Given the description of an element on the screen output the (x, y) to click on. 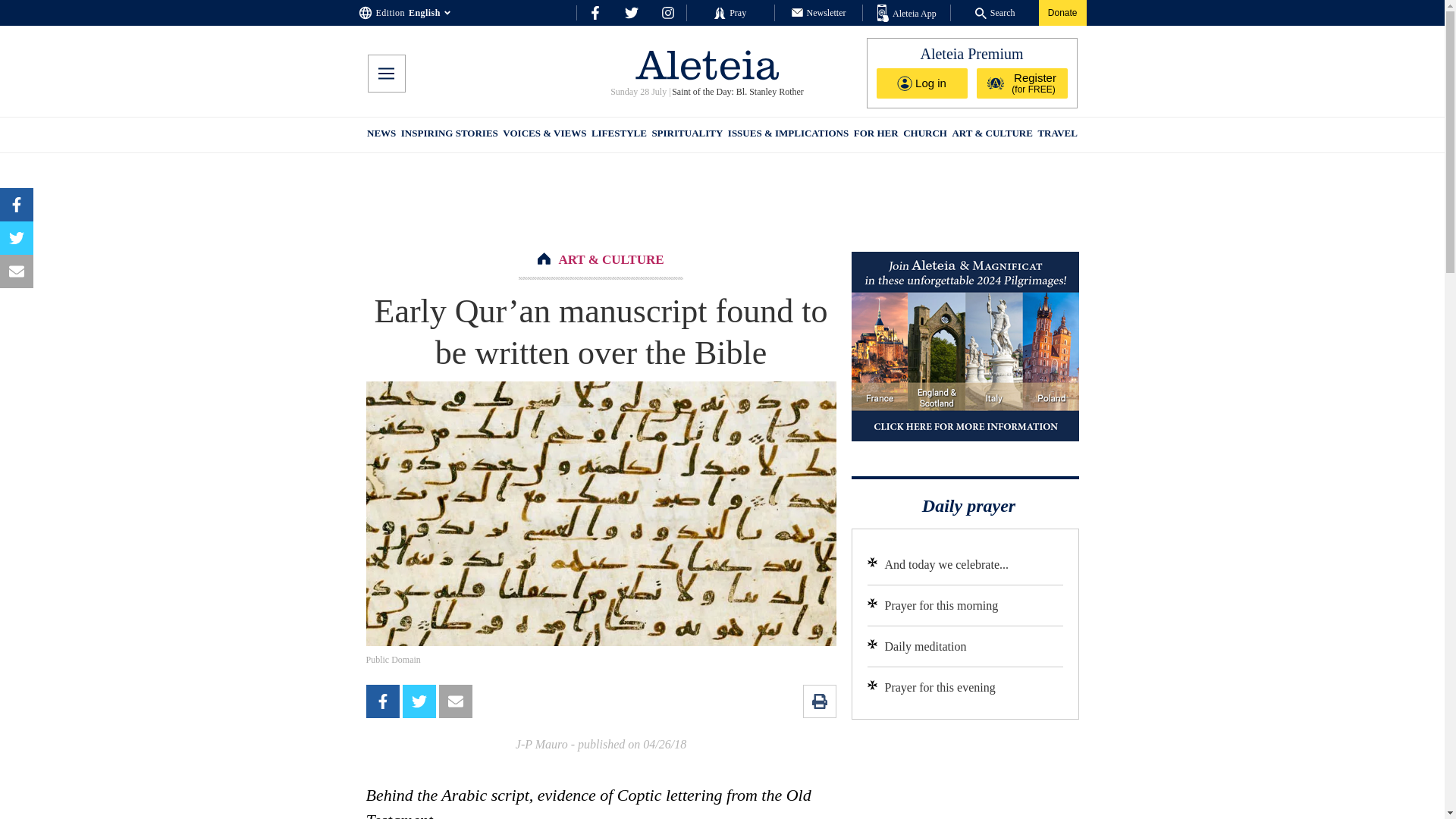
Newsletter (818, 12)
mobile-menu-btn (385, 73)
TRAVEL (1056, 134)
Log in (922, 82)
Aleteia App (906, 13)
J-P Mauro (541, 744)
Search (994, 12)
Donate (1062, 12)
CHURCH (924, 134)
social-fb-top-row (595, 12)
social-tw-top-row (631, 12)
LIFESTYLE (618, 134)
social-ig-top-row (668, 12)
SPIRITUALITY (686, 134)
logo-header (706, 64)
